Given the description of an element on the screen output the (x, y) to click on. 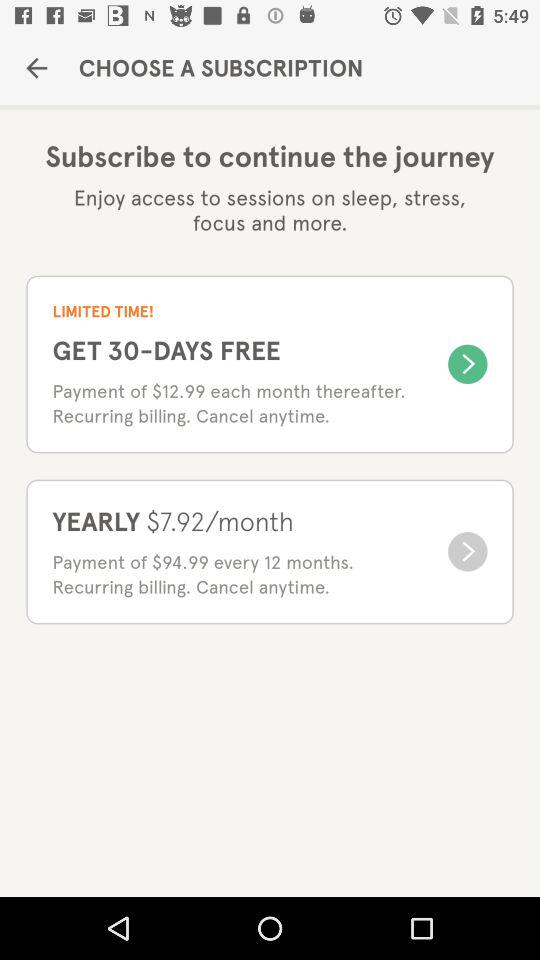
launch the icon to the left of the choose a subscription (36, 68)
